Given the description of an element on the screen output the (x, y) to click on. 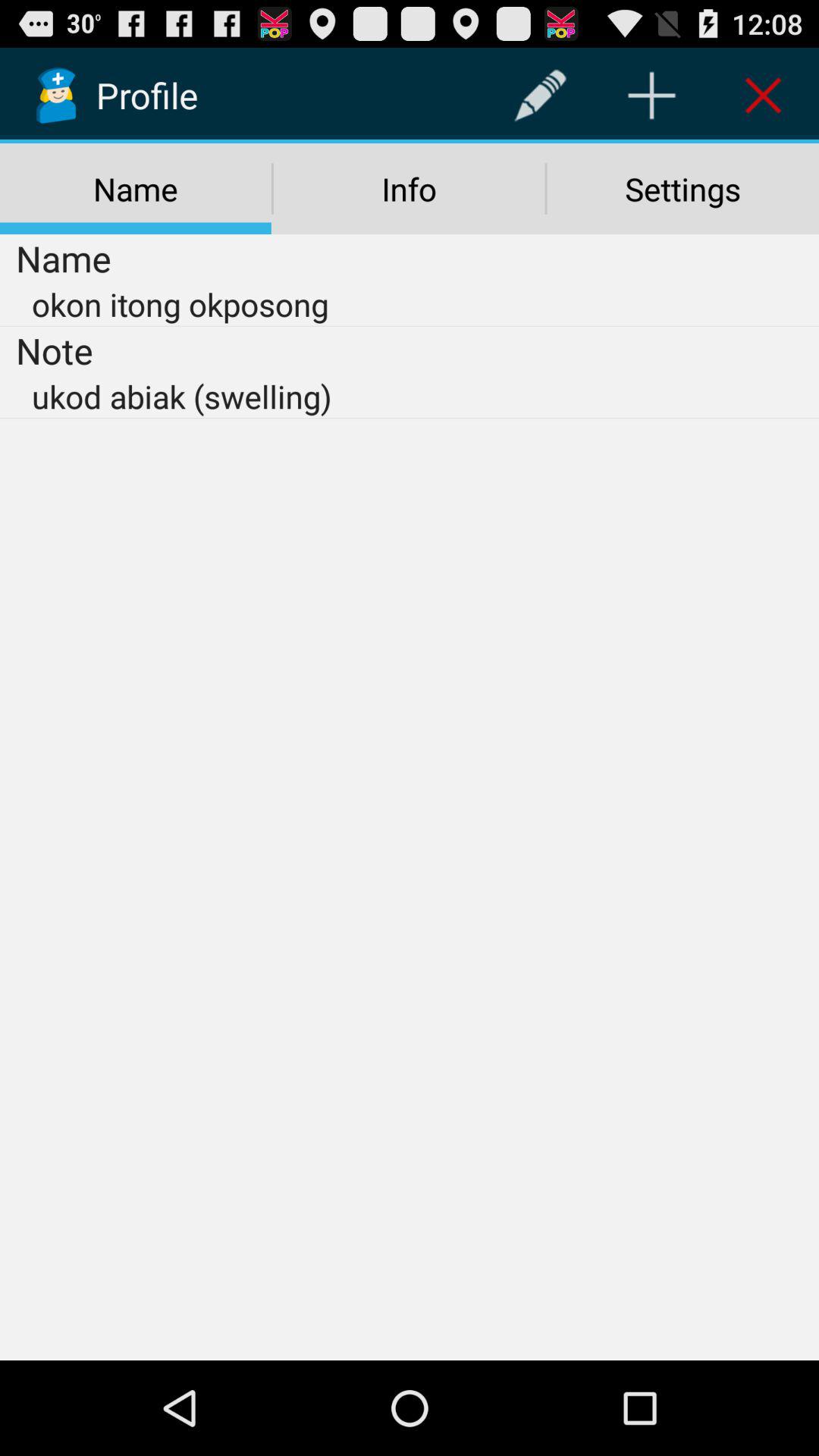
scroll to settings item (683, 188)
